Given the description of an element on the screen output the (x, y) to click on. 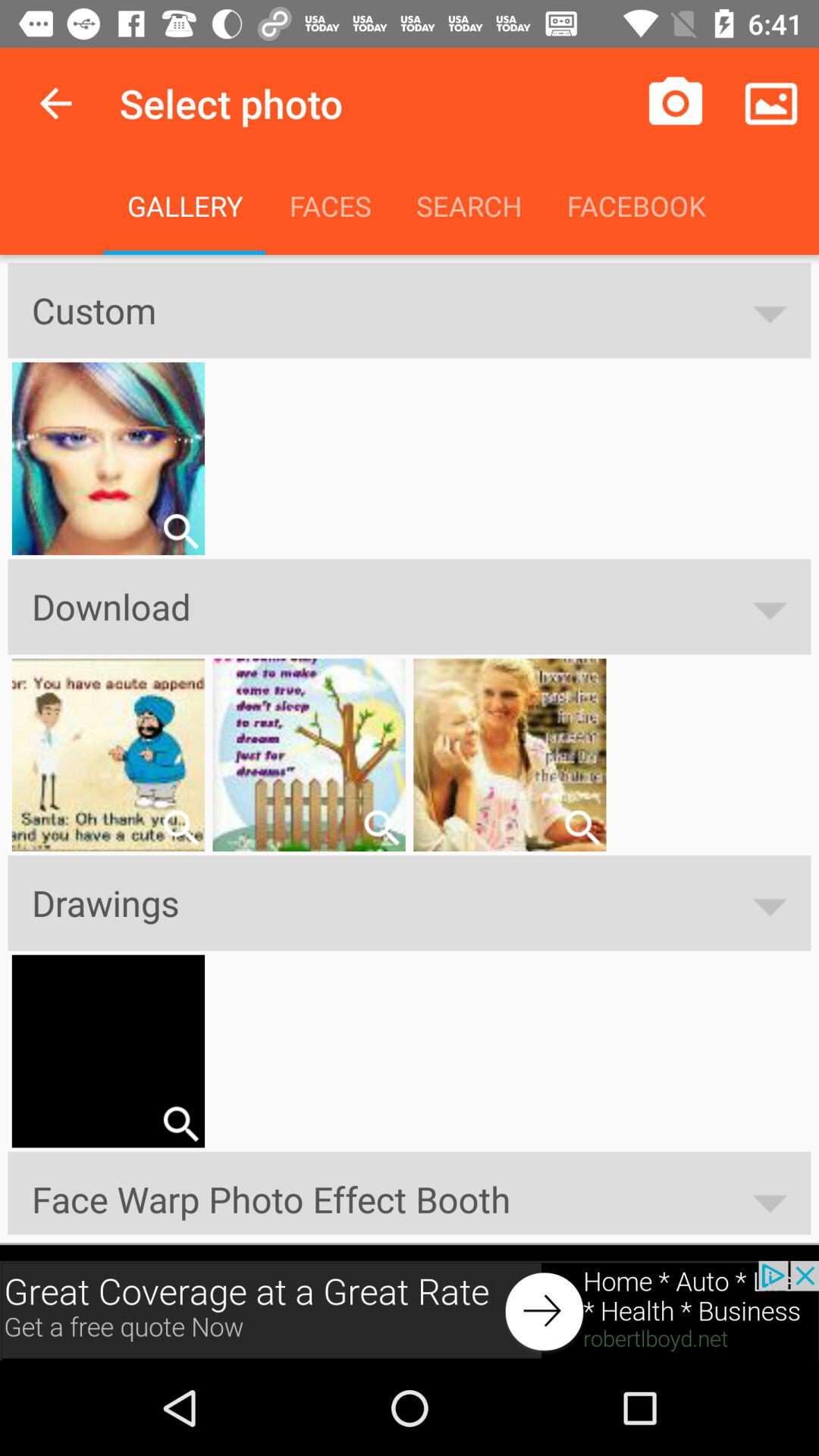
search (180, 531)
